Given the description of an element on the screen output the (x, y) to click on. 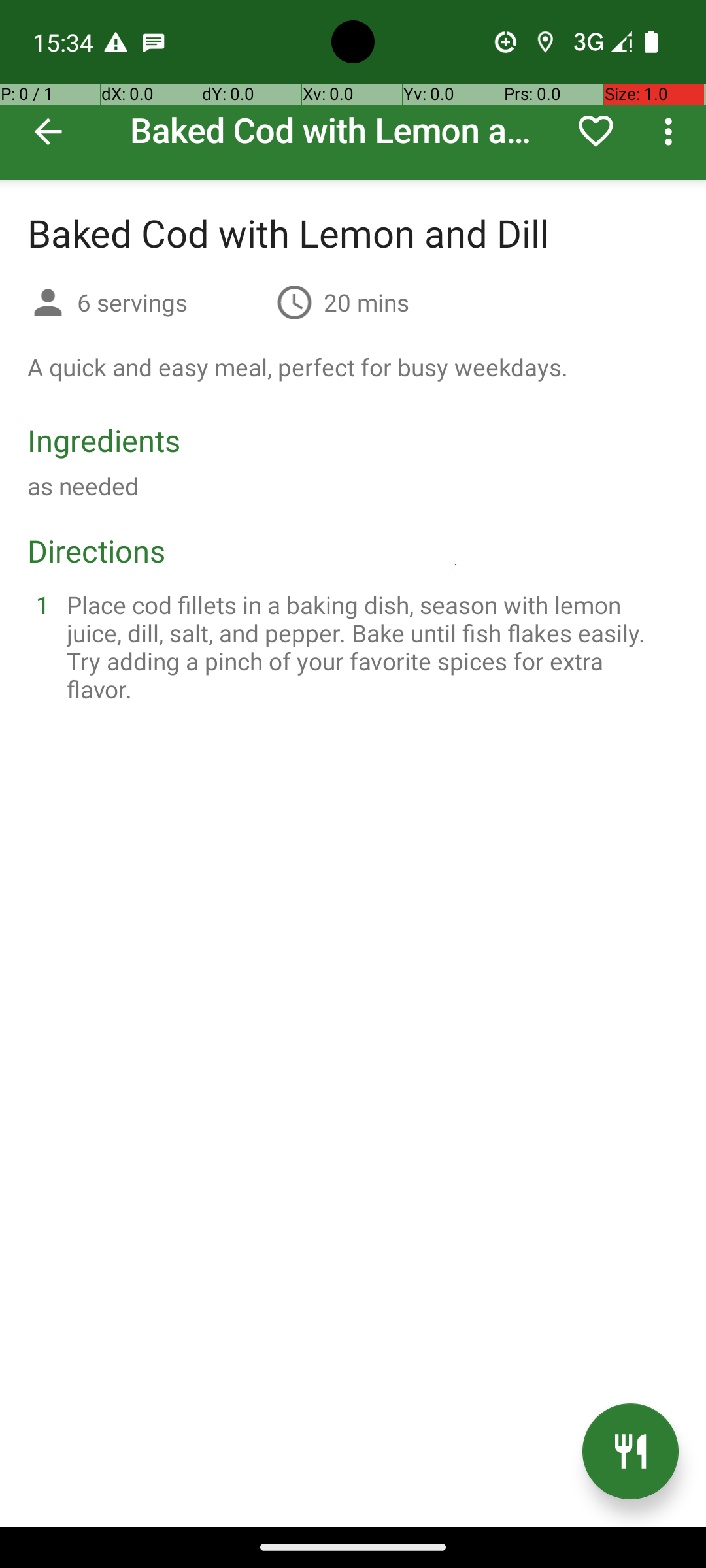
Place cod fillets in a baking dish, season with lemon juice, dill, salt, and pepper. Bake until fish flakes easily. Try adding a pinch of your favorite spices for extra flavor. Element type: android.widget.TextView (368, 646)
